Given the description of an element on the screen output the (x, y) to click on. 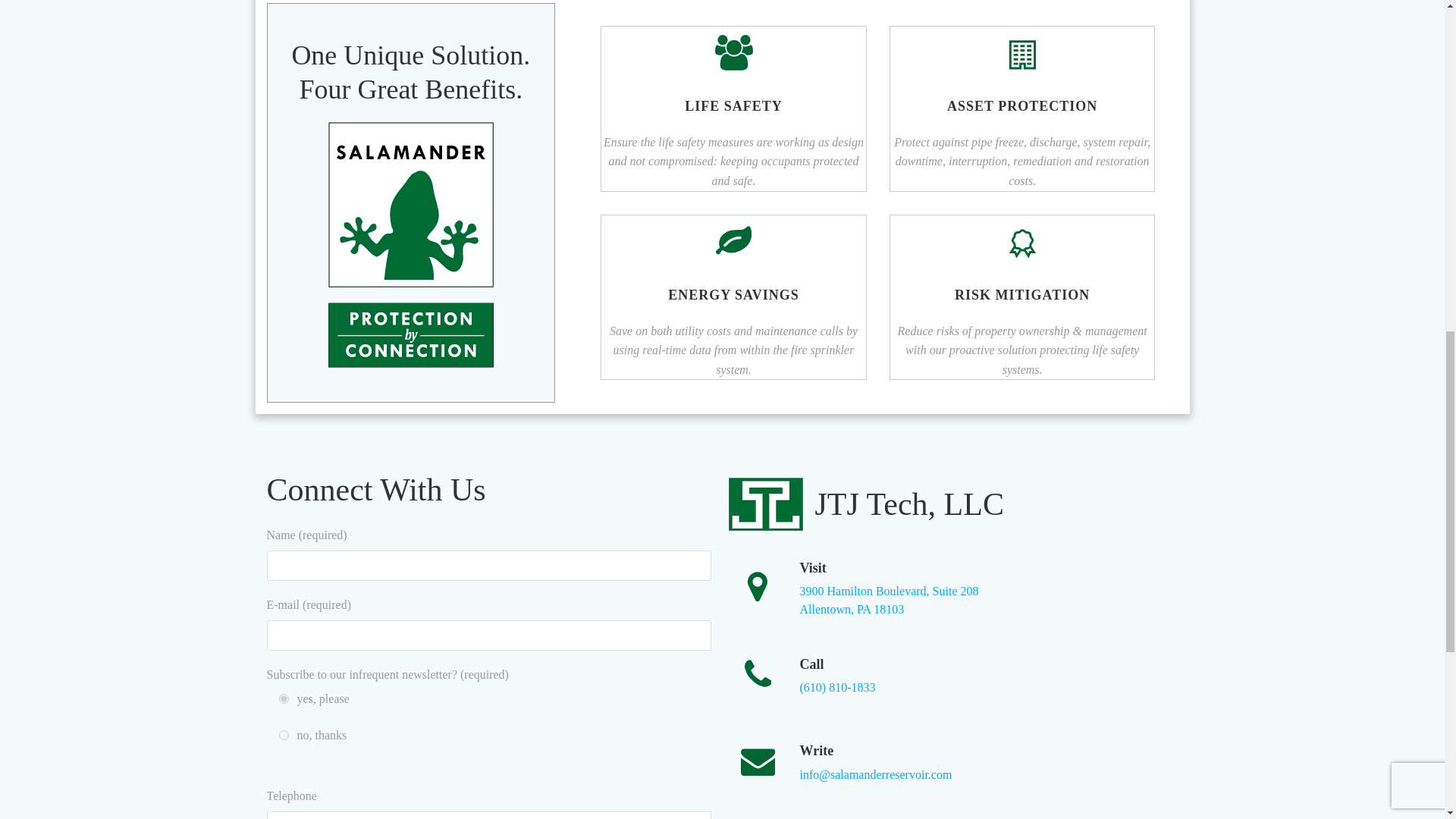
yes, please (283, 698)
no, thanks (283, 735)
